Given the description of an element on the screen output the (x, y) to click on. 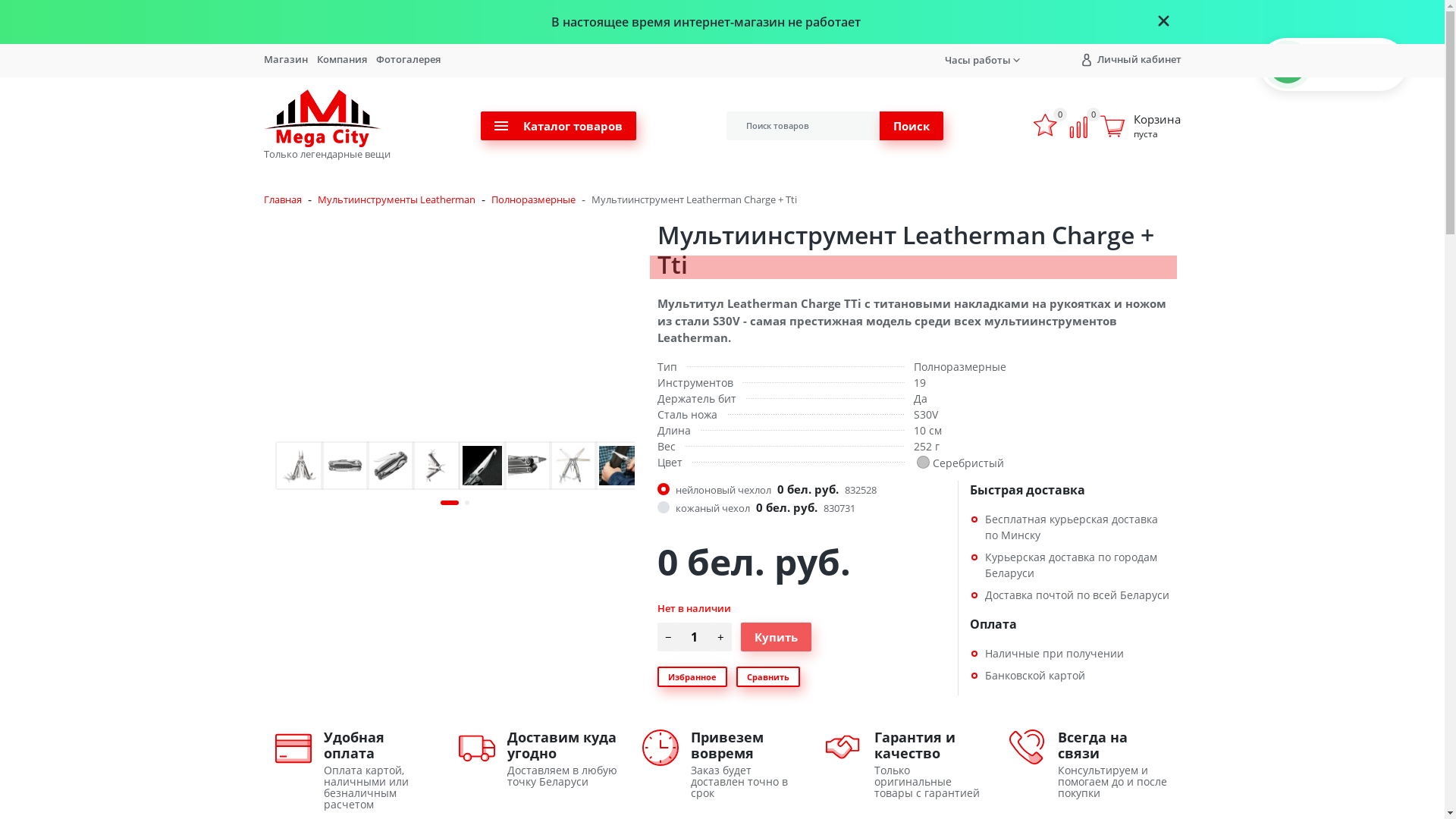
7-charge-tti-gut-hook.jpg Element type: hover (618, 465)
tl_xti_hook_enl.jpg Element type: hover (482, 465)
